Given the description of an element on the screen output the (x, y) to click on. 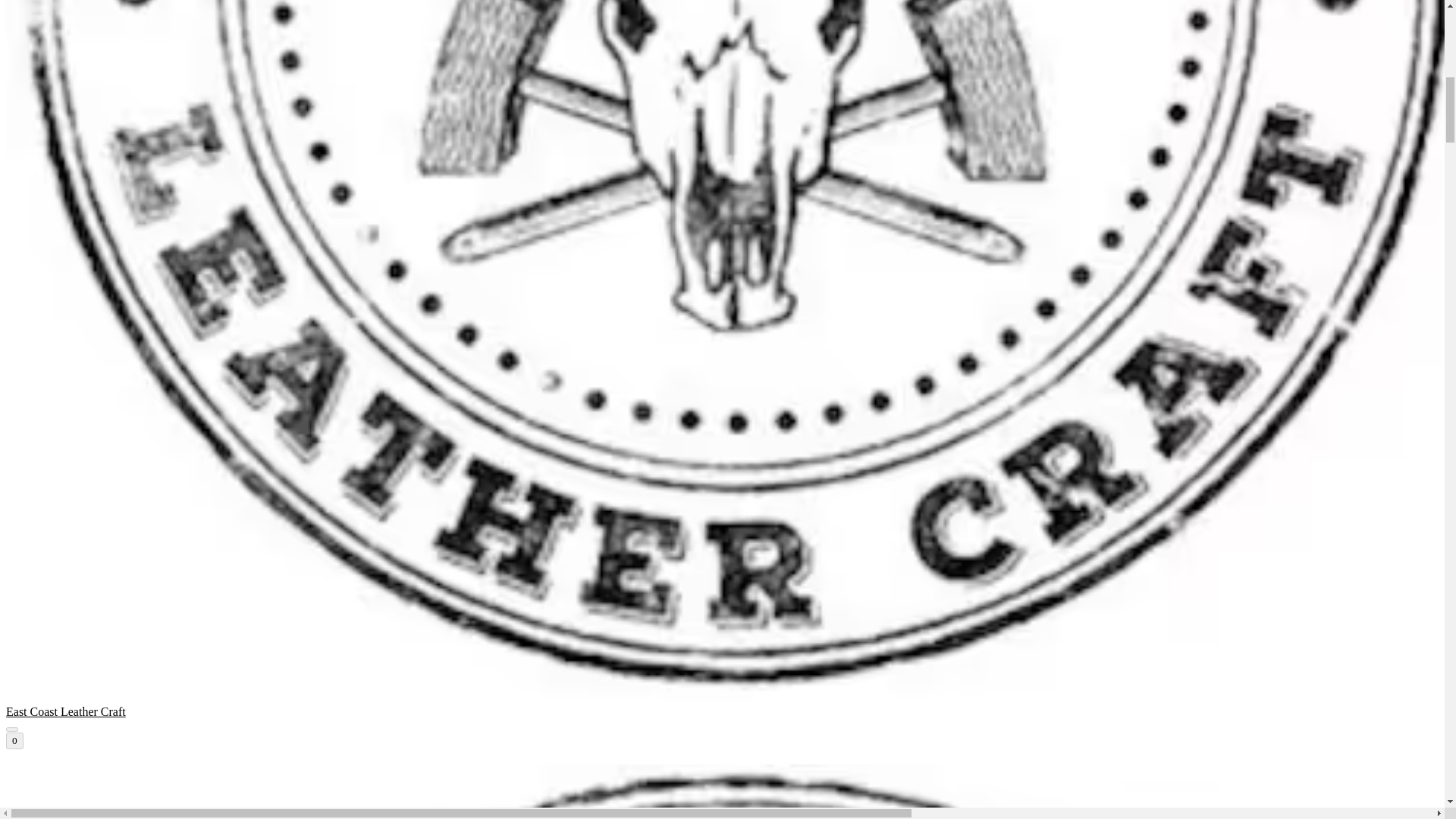
East Coast Leather Craft (721, 791)
0 (14, 740)
